Given the description of an element on the screen output the (x, y) to click on. 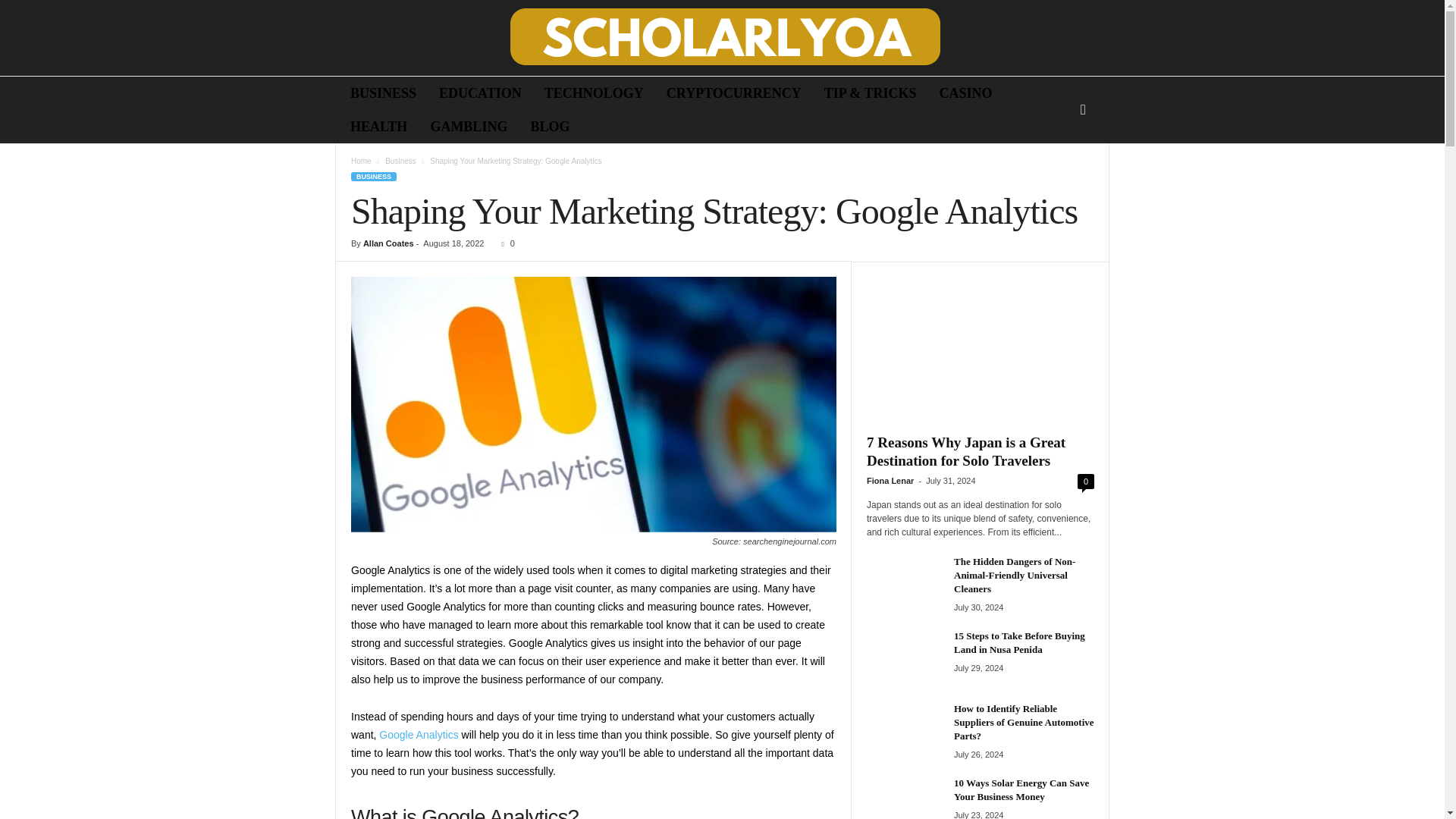
Business (400, 161)
CASINO (966, 92)
BUSINESS (383, 92)
Allan Coates (387, 243)
HEALTH (379, 126)
View all posts in Business (400, 161)
Google Analytics (592, 404)
Home (360, 161)
BLOG (549, 126)
GAMBLING (468, 126)
EDUCATION (480, 92)
TECHNOLOGY (593, 92)
CRYPTOCURRENCY (733, 92)
0 (505, 243)
Google Analytics (418, 734)
